Given the description of an element on the screen output the (x, y) to click on. 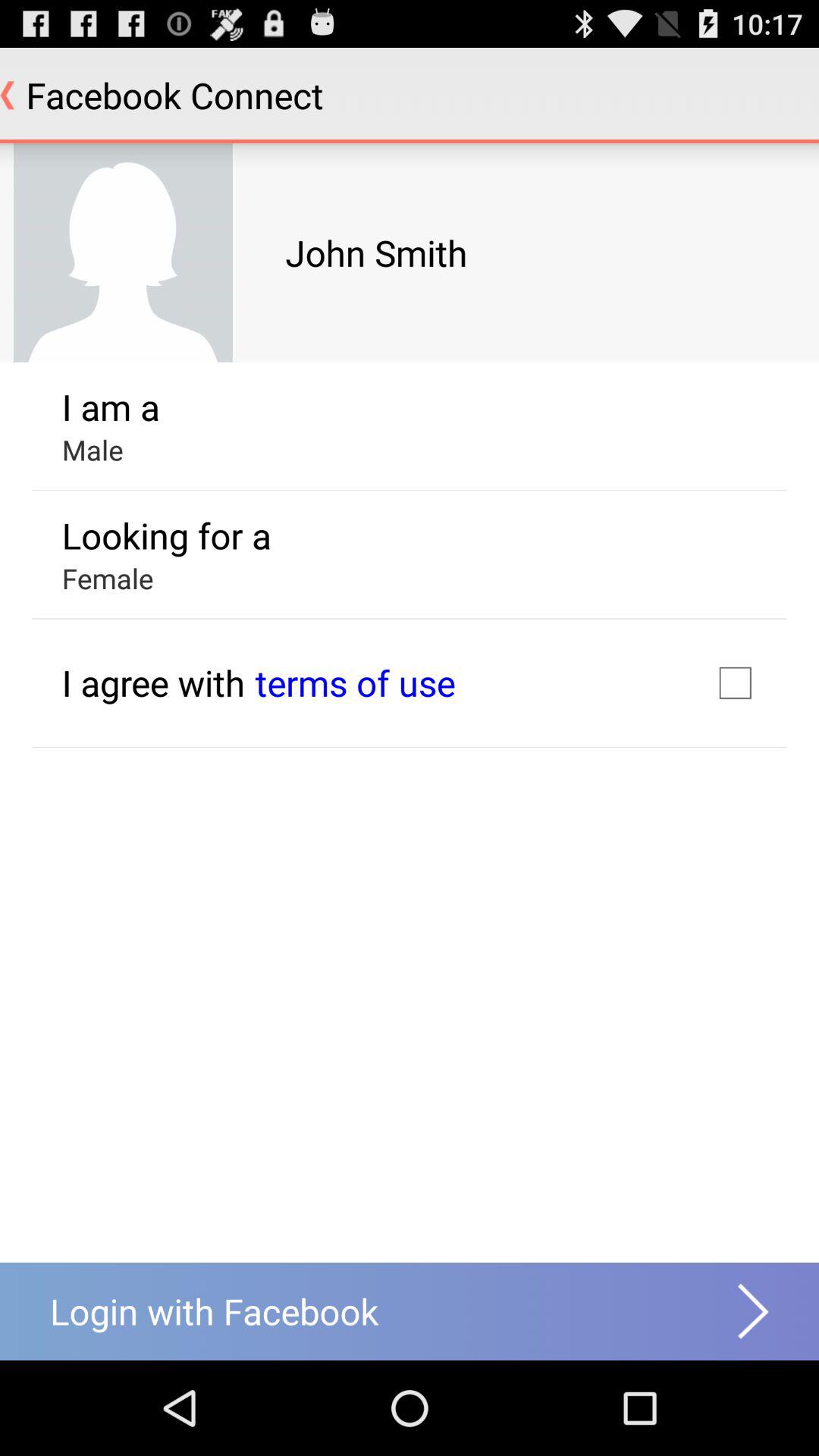
scroll until the i am a item (110, 406)
